Given the description of an element on the screen output the (x, y) to click on. 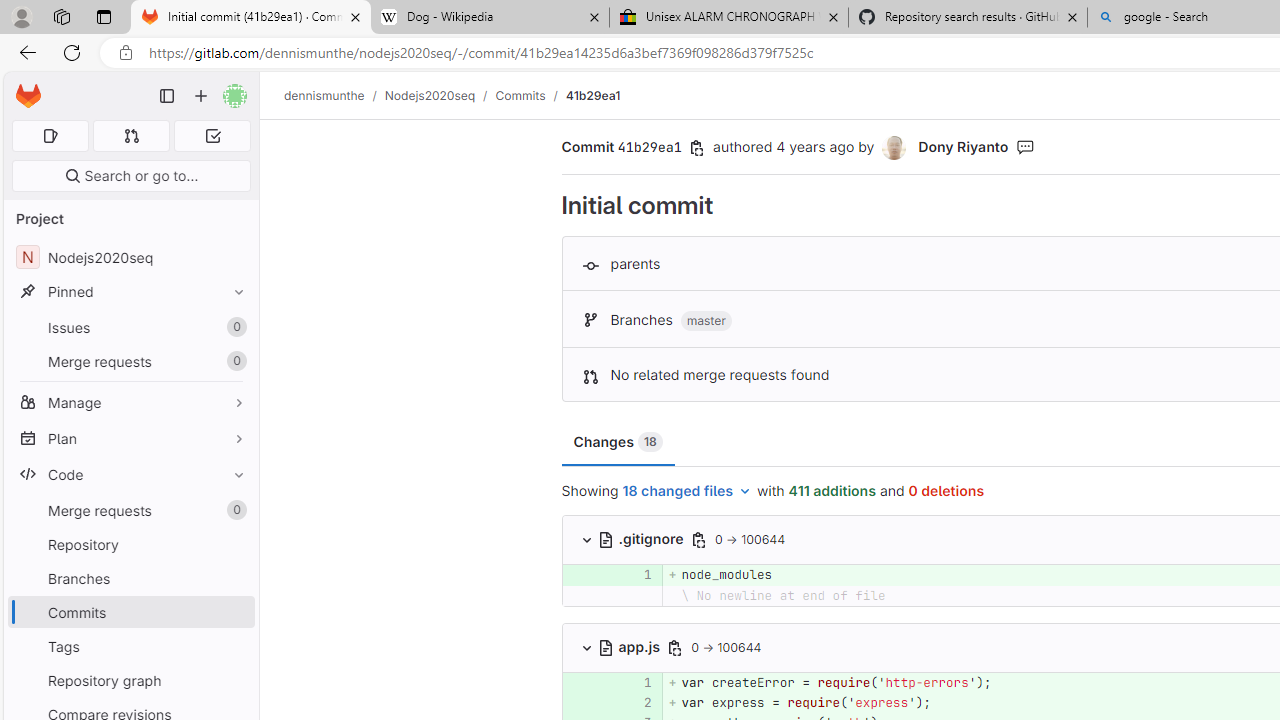
Dony Riyanto's avatar (896, 148)
dennismunthe (324, 95)
Pinned (130, 291)
Issues0 (130, 327)
Class: s16 chevron-down (586, 647)
Dog - Wikipedia (490, 17)
To-Do list 0 (212, 136)
Class: s16 (605, 647)
Repository graph (130, 679)
Assigned issues 0 (50, 136)
Manage (130, 402)
master (705, 321)
.gitignore  (642, 538)
